Given the description of an element on the screen output the (x, y) to click on. 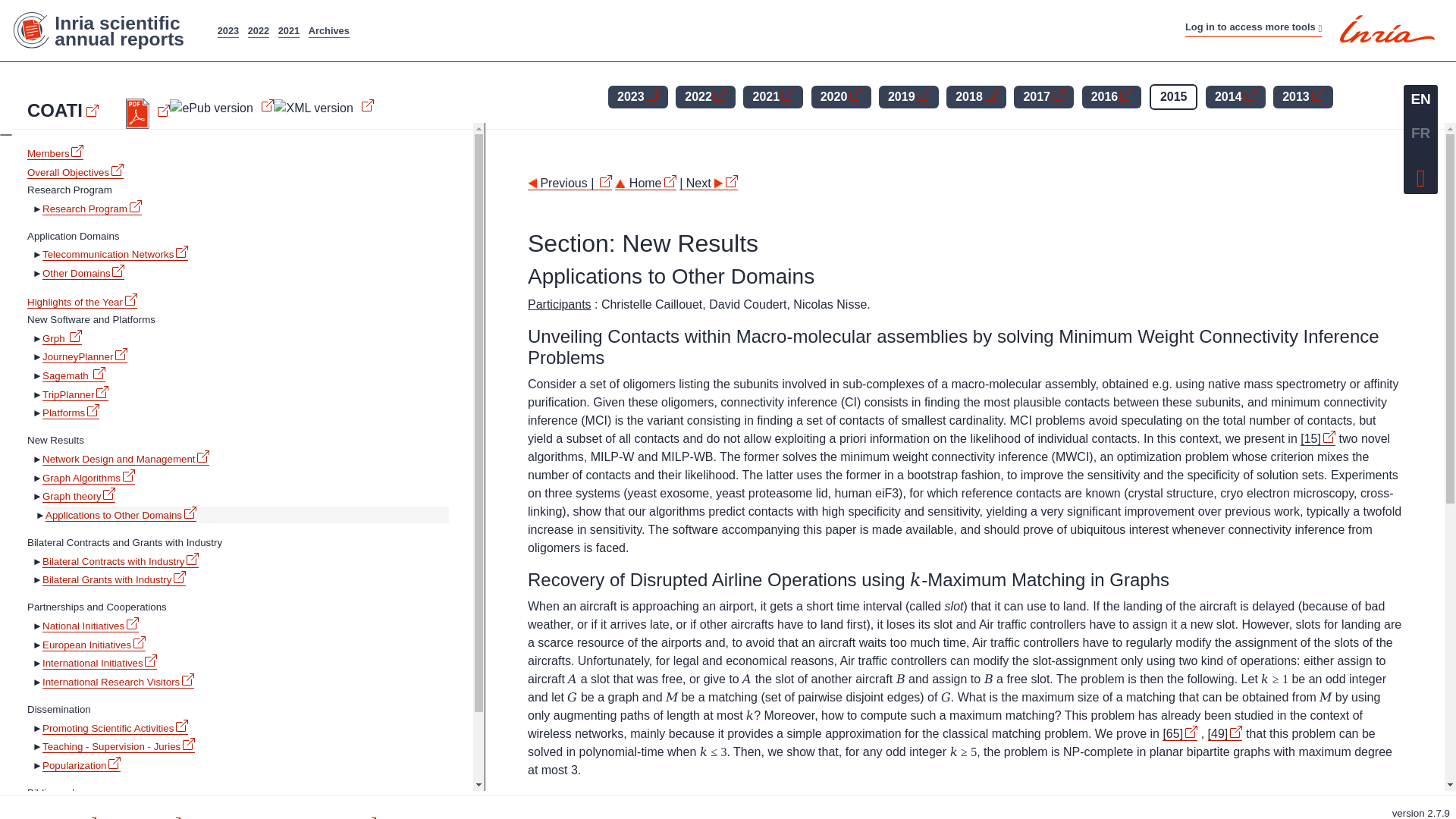
COATI (63, 110)
Log in to access more tools (1253, 27)
Accessibility (747, 23)
2023 (227, 30)
2022 (258, 30)
FR (1420, 133)
Search (804, 23)
All archives (328, 30)
Site map (686, 23)
2021 annual reports (288, 30)
Main content (625, 23)
Home page - Inria scientific annual reports (106, 30)
 FR: Use french language (1420, 133)
Archives (328, 30)
2022 annual reports (258, 30)
